Given the description of an element on the screen output the (x, y) to click on. 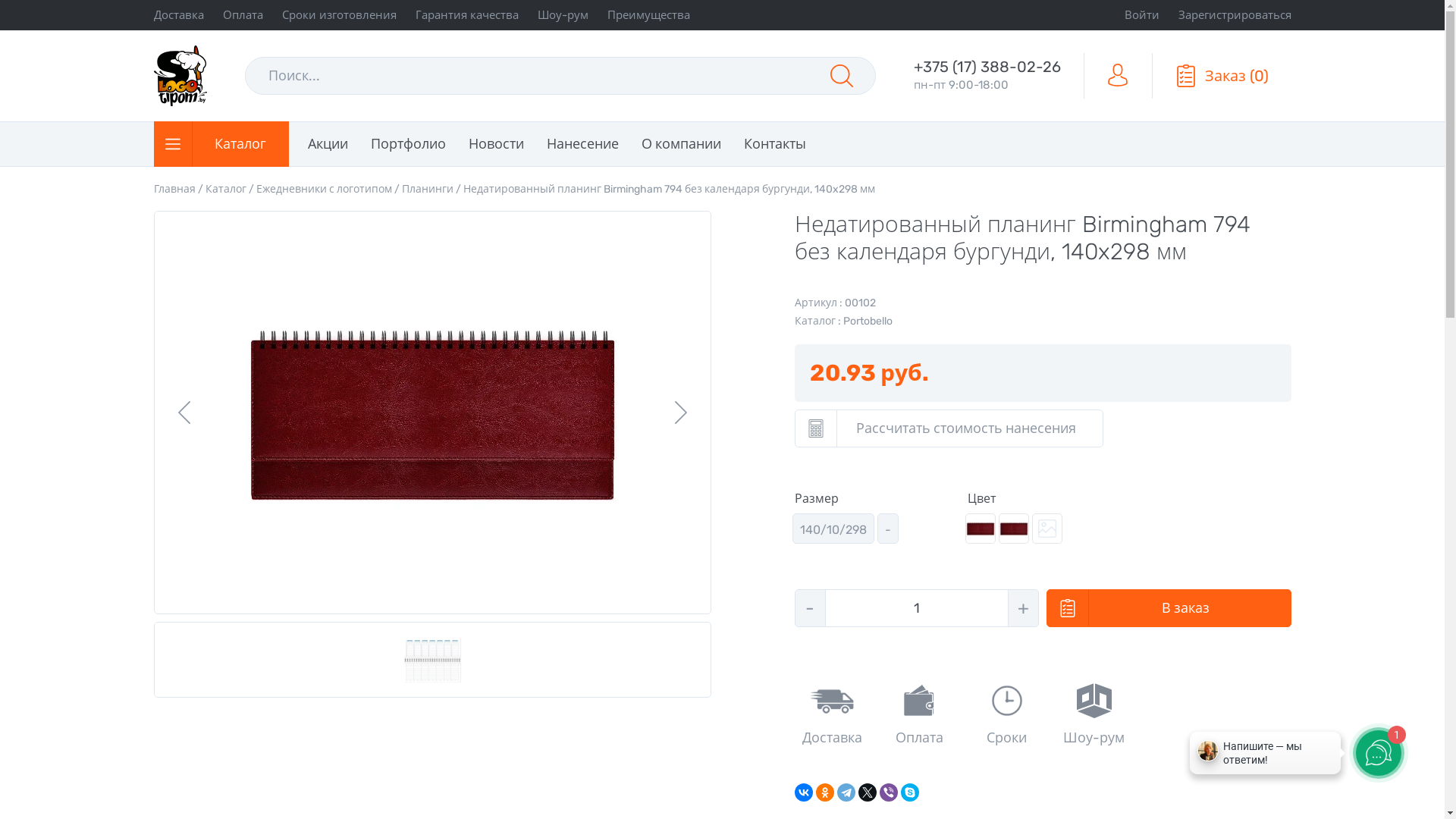
- Element type: hover (1046, 528)
Viber Element type: hover (888, 792)
amoCRM Live Chat Element type: hover (1265, 756)
Skype Element type: hover (909, 792)
Telegram Element type: hover (846, 792)
+375 (17) 388-02-26 Element type: text (986, 66)
Twitter Element type: hover (867, 792)
